Given the description of an element on the screen output the (x, y) to click on. 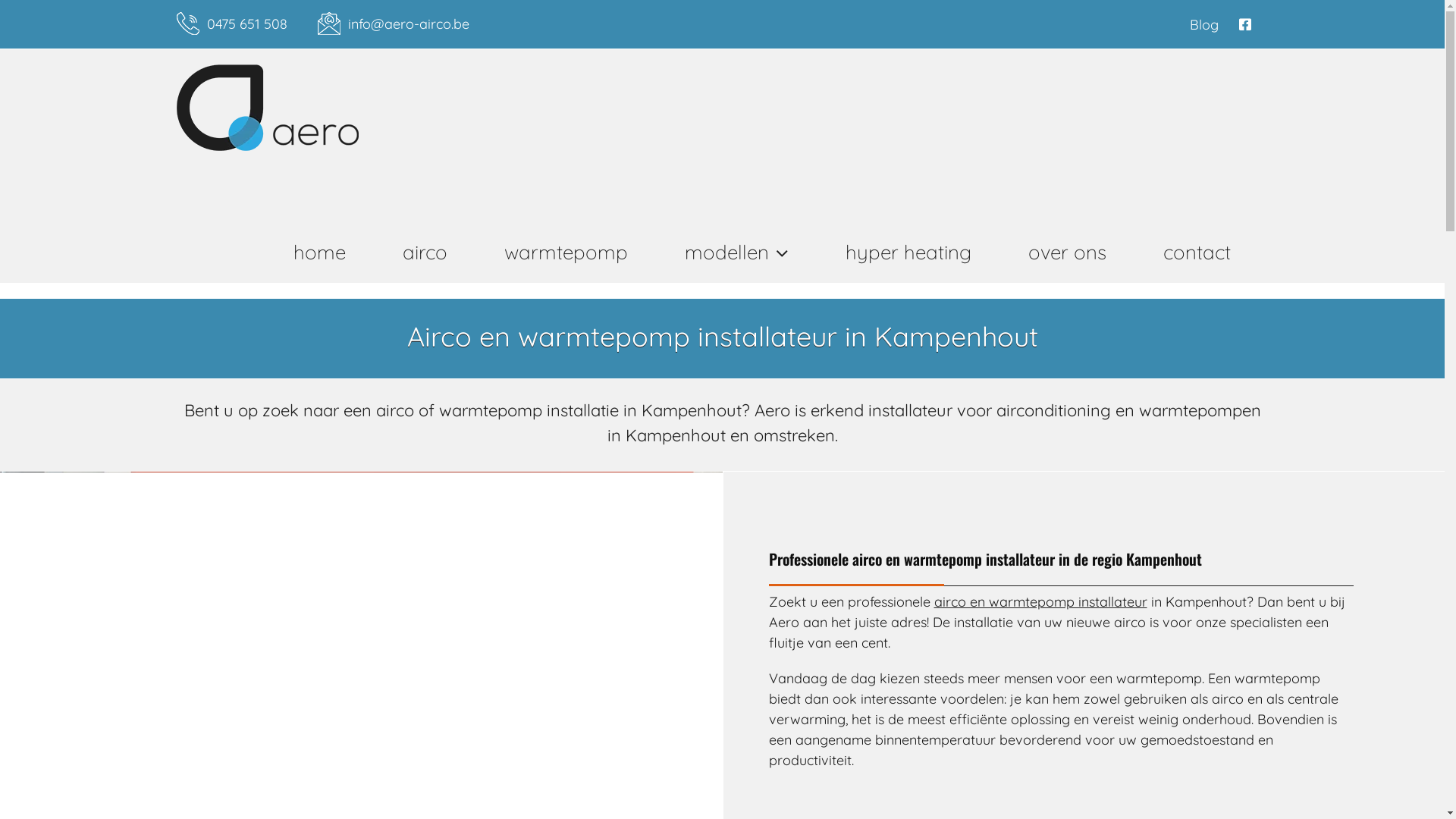
Volg ons op Facebook Element type: hover (1247, 23)
0475 651 508 Element type: text (245, 23)
info@aero-airco.be Element type: text (407, 23)
warmtepomp Element type: text (565, 252)
airco Element type: text (424, 252)
contact Element type: text (1195, 252)
Blog Element type: text (1203, 23)
airco en warmtepomp installateur Element type: text (1040, 601)
over ons Element type: text (1066, 252)
hyper heating Element type: text (908, 252)
modellen Element type: text (736, 252)
home Element type: text (319, 252)
